Given the description of an element on the screen output the (x, y) to click on. 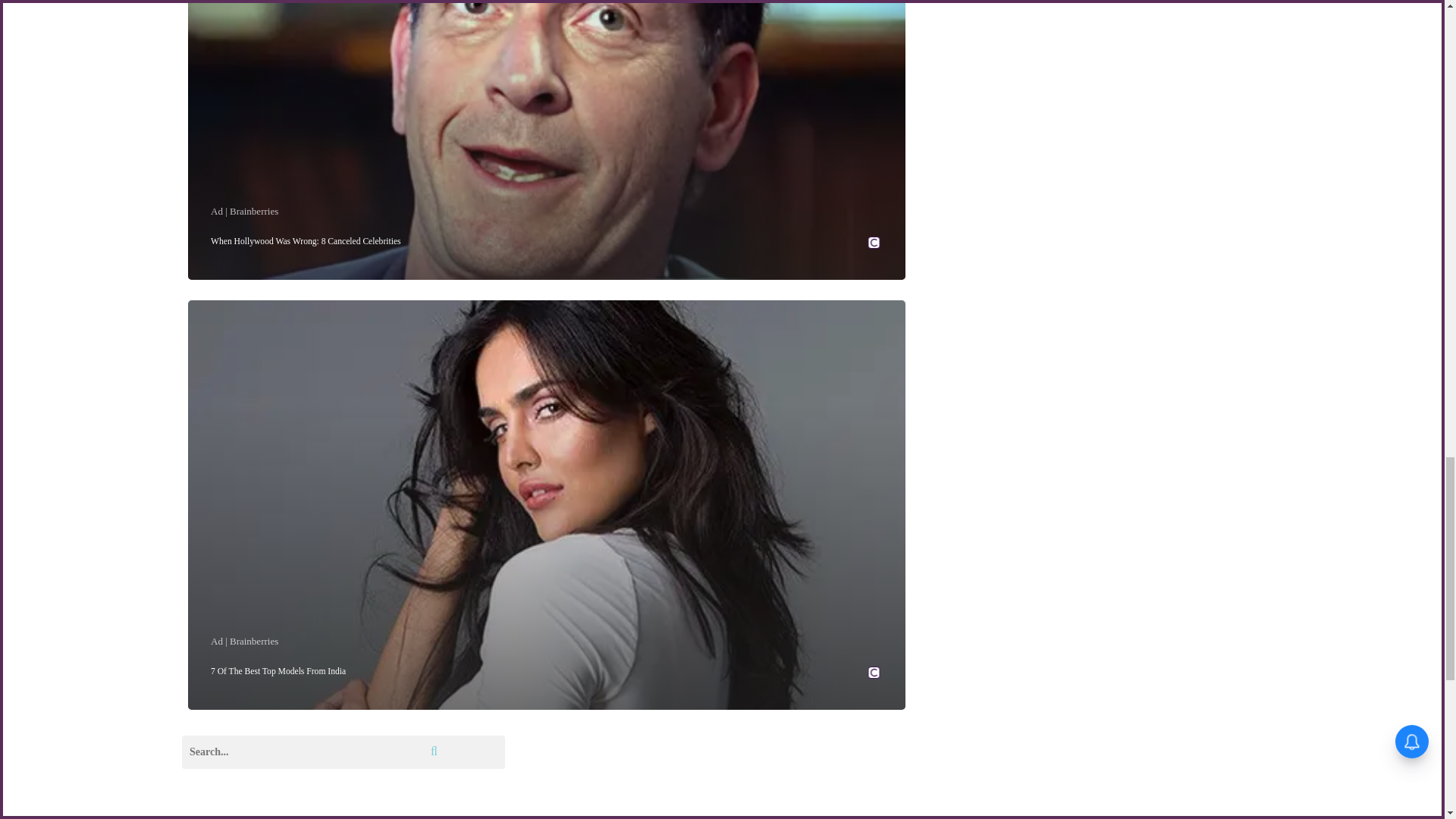
Search for: (343, 752)
